Given the description of an element on the screen output the (x, y) to click on. 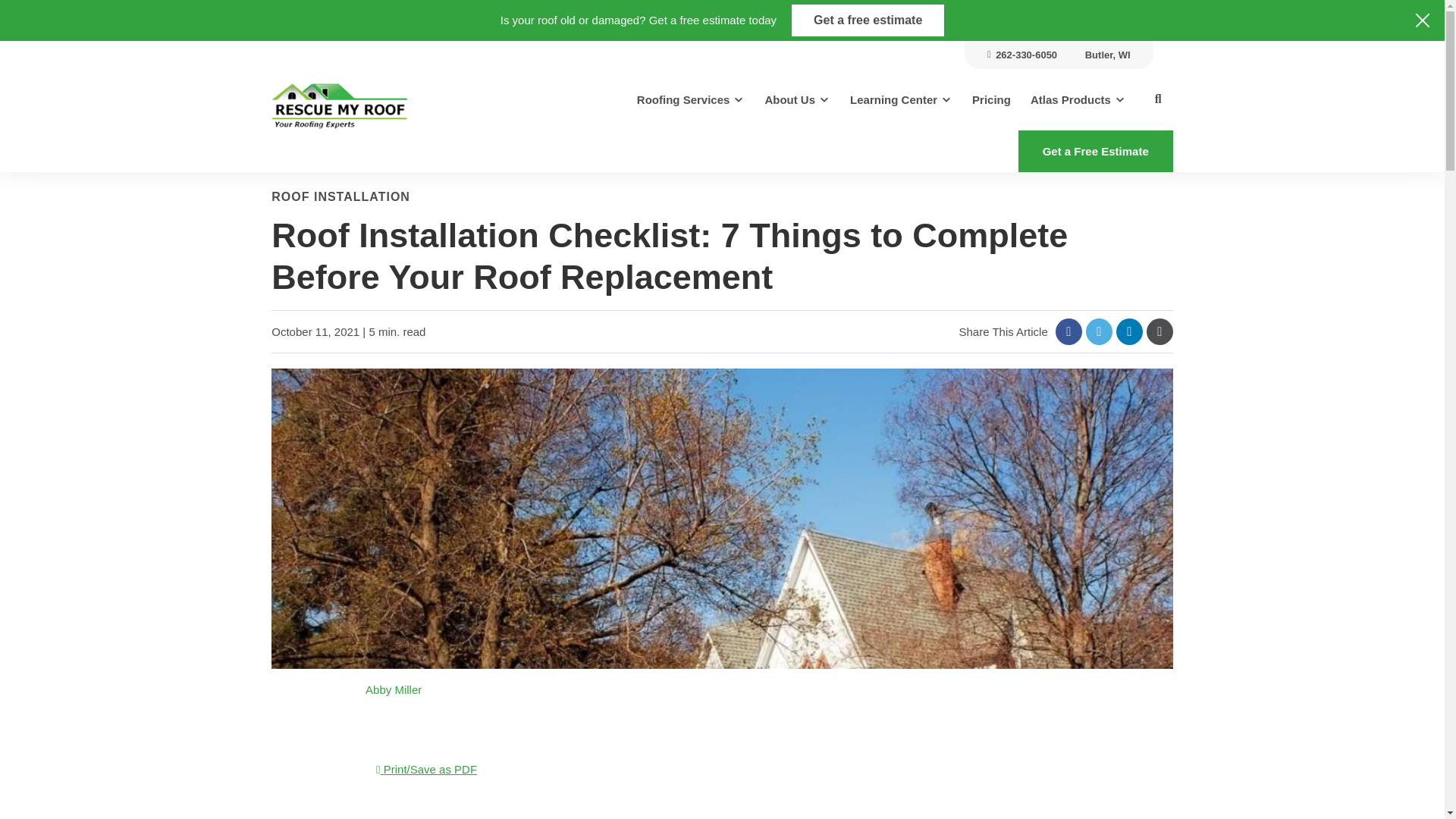
Open Search (1158, 99)
Open Search (1158, 99)
About Us (797, 99)
Abby Miller (319, 710)
Share on Facebook (1068, 331)
Get a Free Estimate (1095, 150)
Learning Center (901, 99)
Roofing Services (691, 99)
Share on Linkedin (1129, 331)
Abby Miller (393, 689)
